Given the description of an element on the screen output the (x, y) to click on. 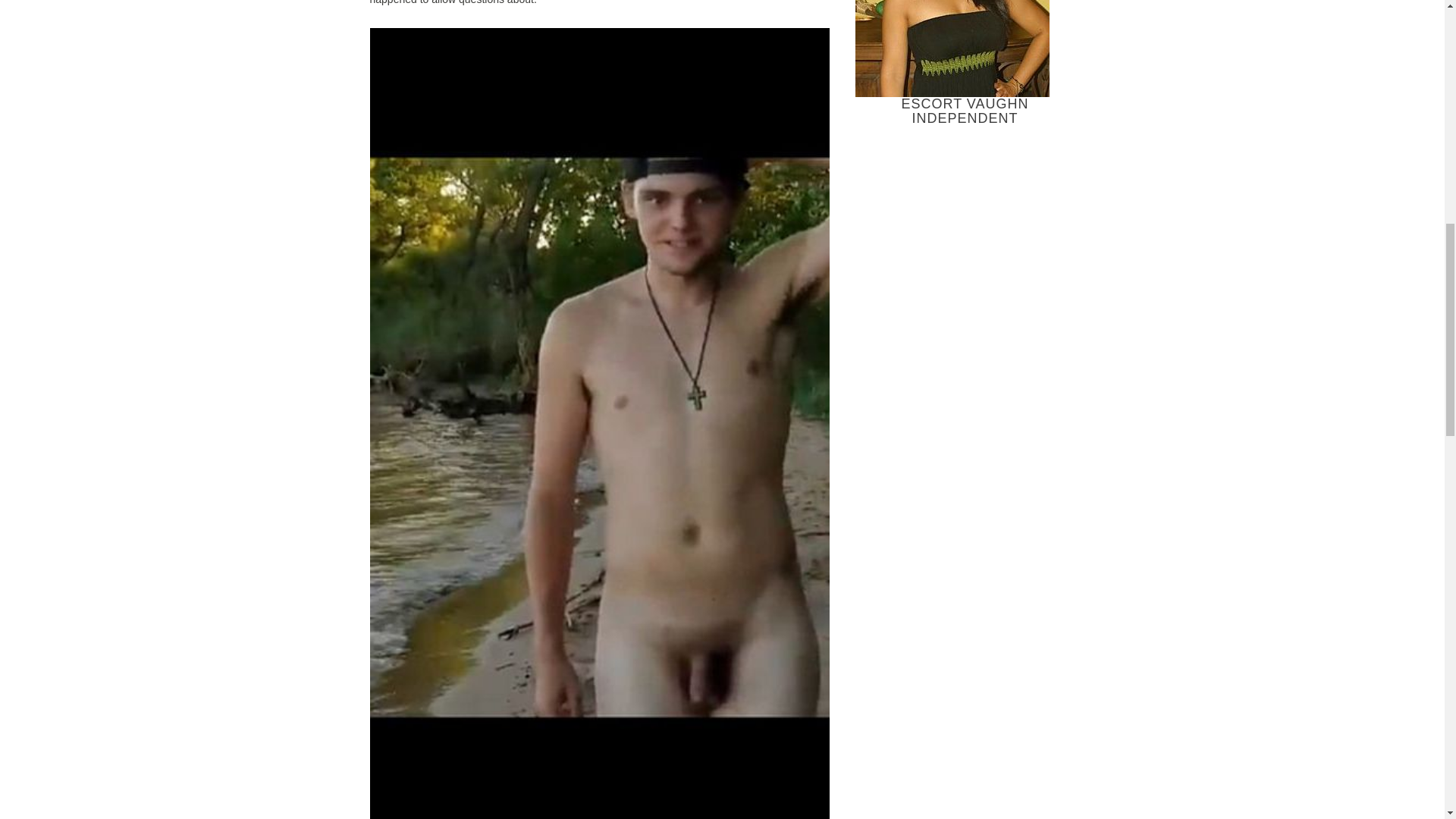
ESCORT VAUGHN INDEPENDENT (965, 63)
Escort Vaughn Independent (952, 48)
